Given the description of an element on the screen output the (x, y) to click on. 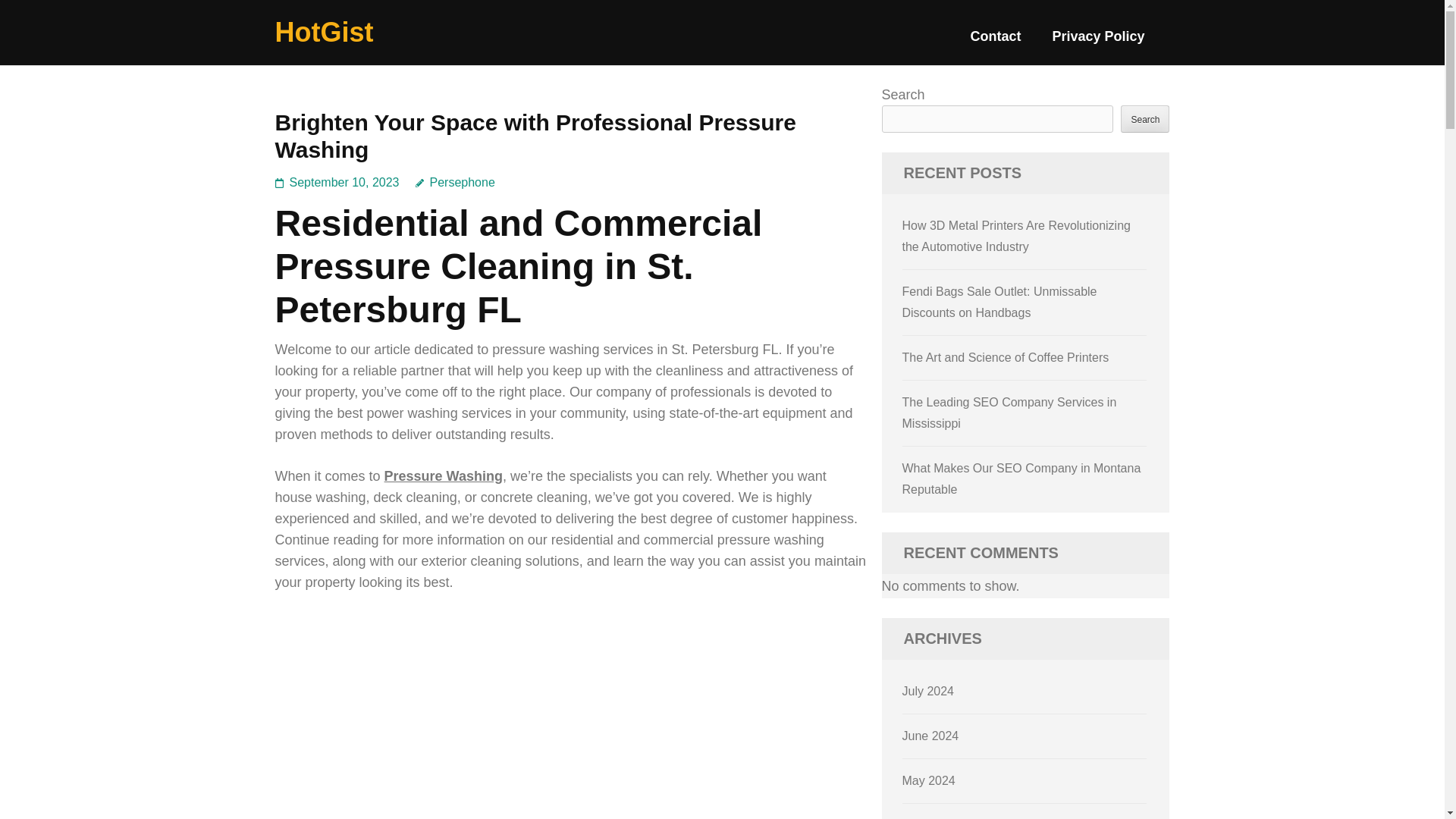
The Art and Science of Coffee Printers (1005, 357)
Pressure Washing (443, 476)
Contact (994, 42)
HotGist (323, 31)
September 10, 2023 (343, 182)
Fendi Bags Sale Outlet: Unmissable Discounts on Handbags (999, 302)
What Makes Our SEO Company in Montana Reputable (1021, 478)
Privacy Policy (1097, 42)
The Leading SEO Company Services in Mississippi (1009, 412)
May 2024 (928, 780)
June 2024 (930, 735)
Persephone (454, 182)
July 2024 (928, 690)
Search (1145, 118)
